Given the description of an element on the screen output the (x, y) to click on. 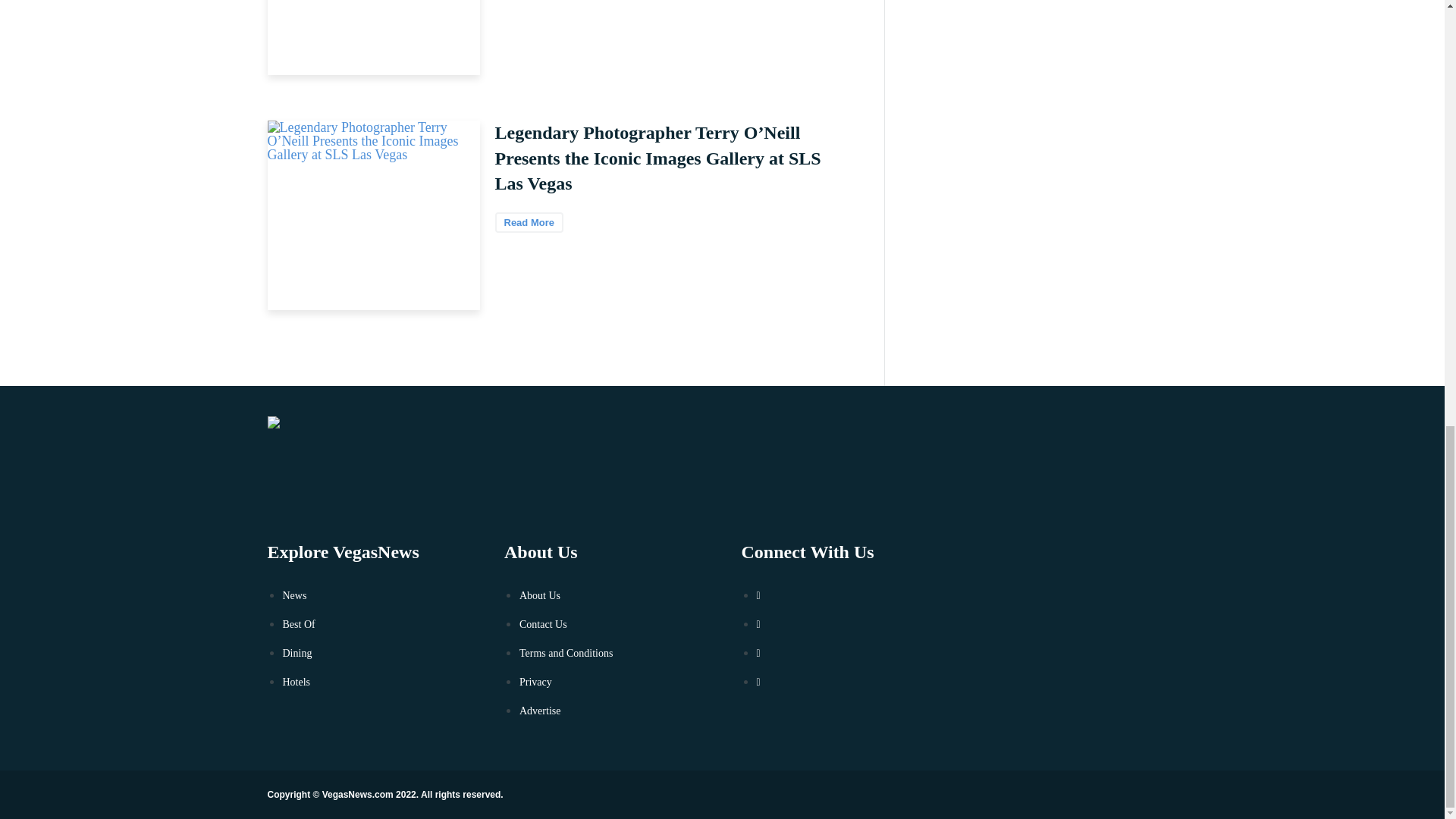
Best Of (298, 624)
News (293, 595)
Hotels (296, 681)
Privacy (535, 681)
Terms and Conditions (565, 653)
Contact Us (543, 624)
Advertise (539, 710)
Dining (296, 653)
About Us (539, 595)
